Given the description of an element on the screen output the (x, y) to click on. 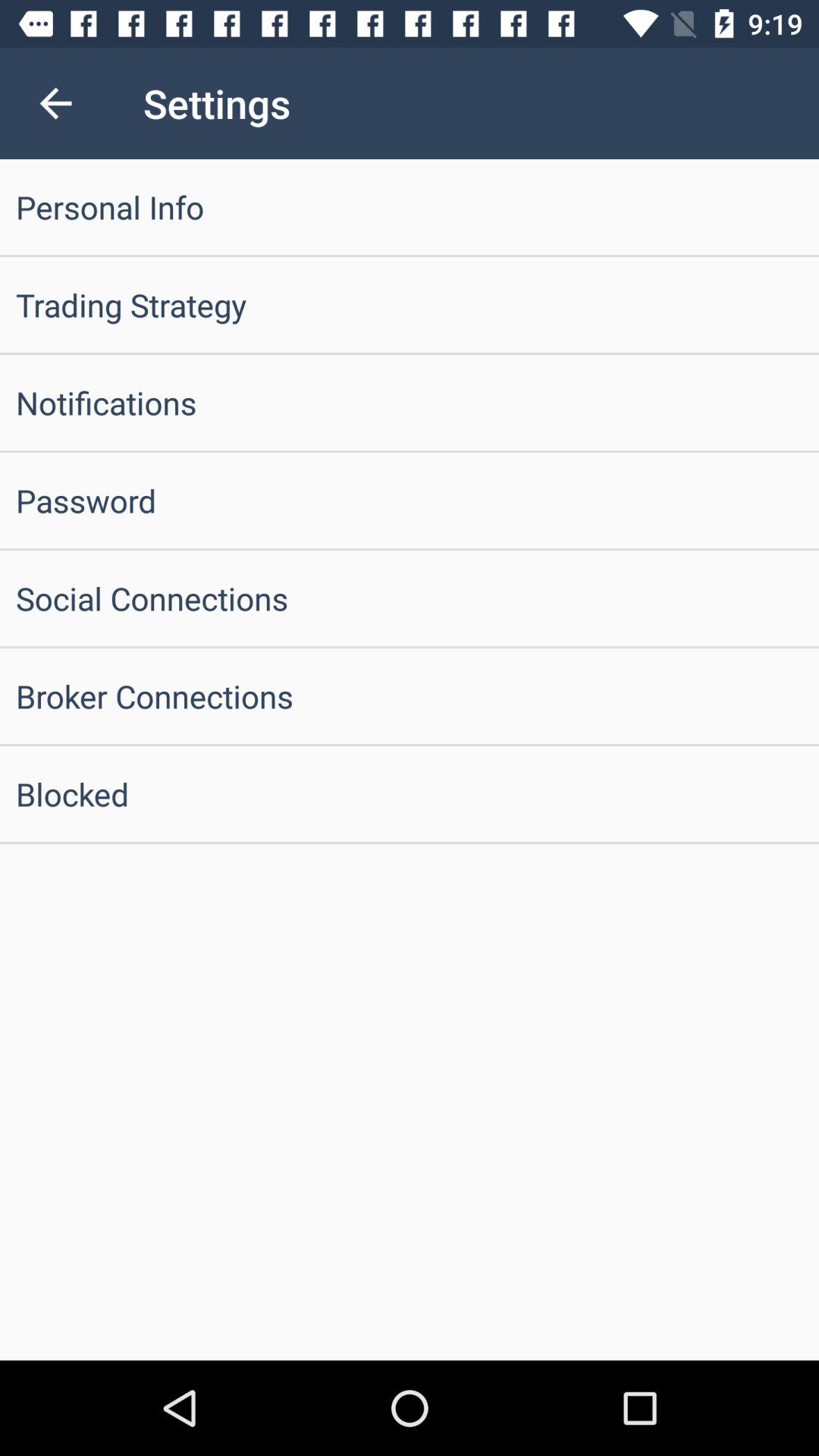
launch the item above the blocked icon (409, 695)
